Given the description of an element on the screen output the (x, y) to click on. 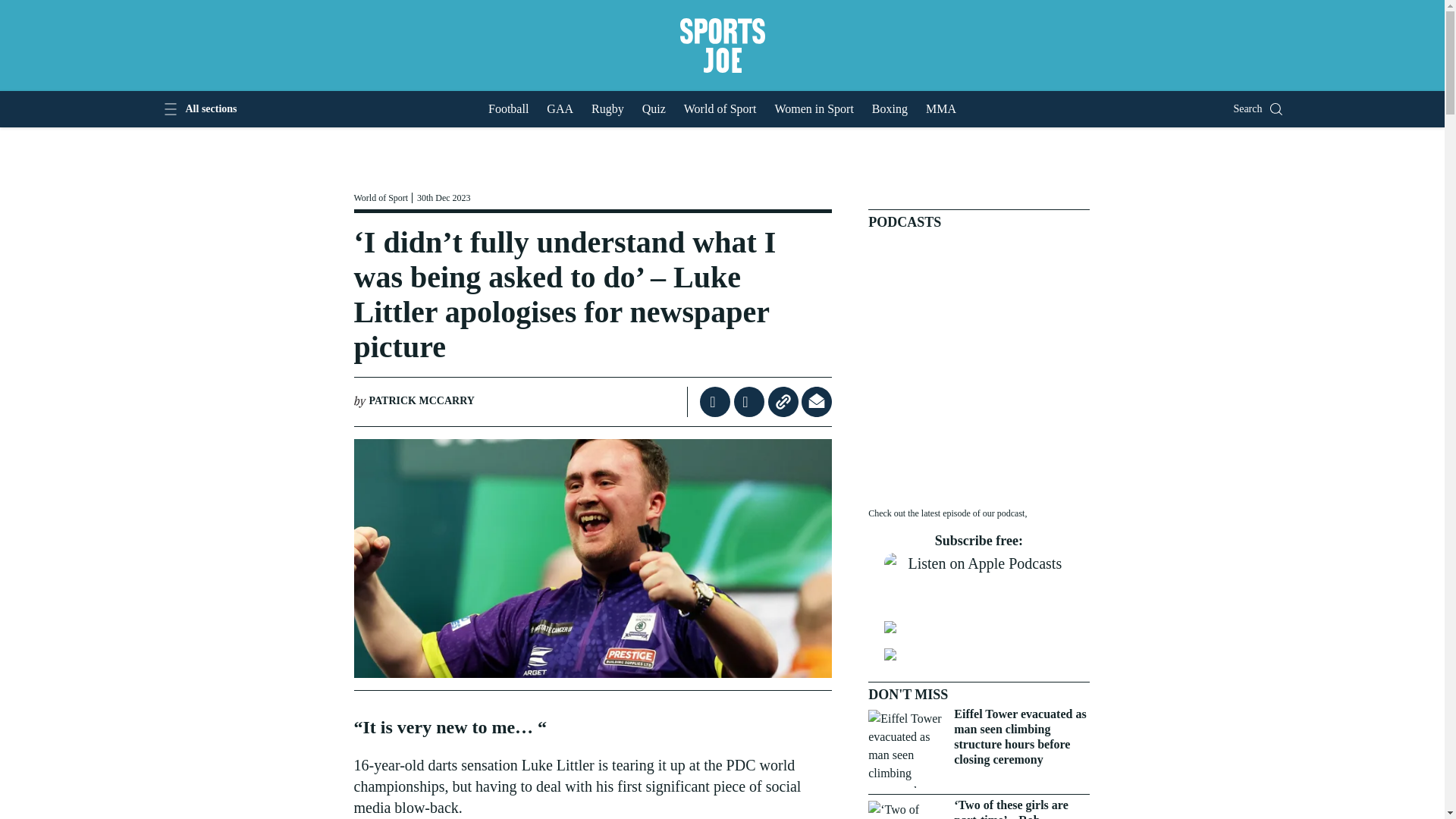
Rugby (607, 108)
Share this on Twitter (750, 401)
World of Sport (381, 196)
Women in Sport (813, 108)
Get in touch by email (816, 401)
Boxing (889, 108)
Football (507, 108)
Welcome to JOE (721, 45)
Quiz (653, 108)
GAA (560, 108)
